Given the description of an element on the screen output the (x, y) to click on. 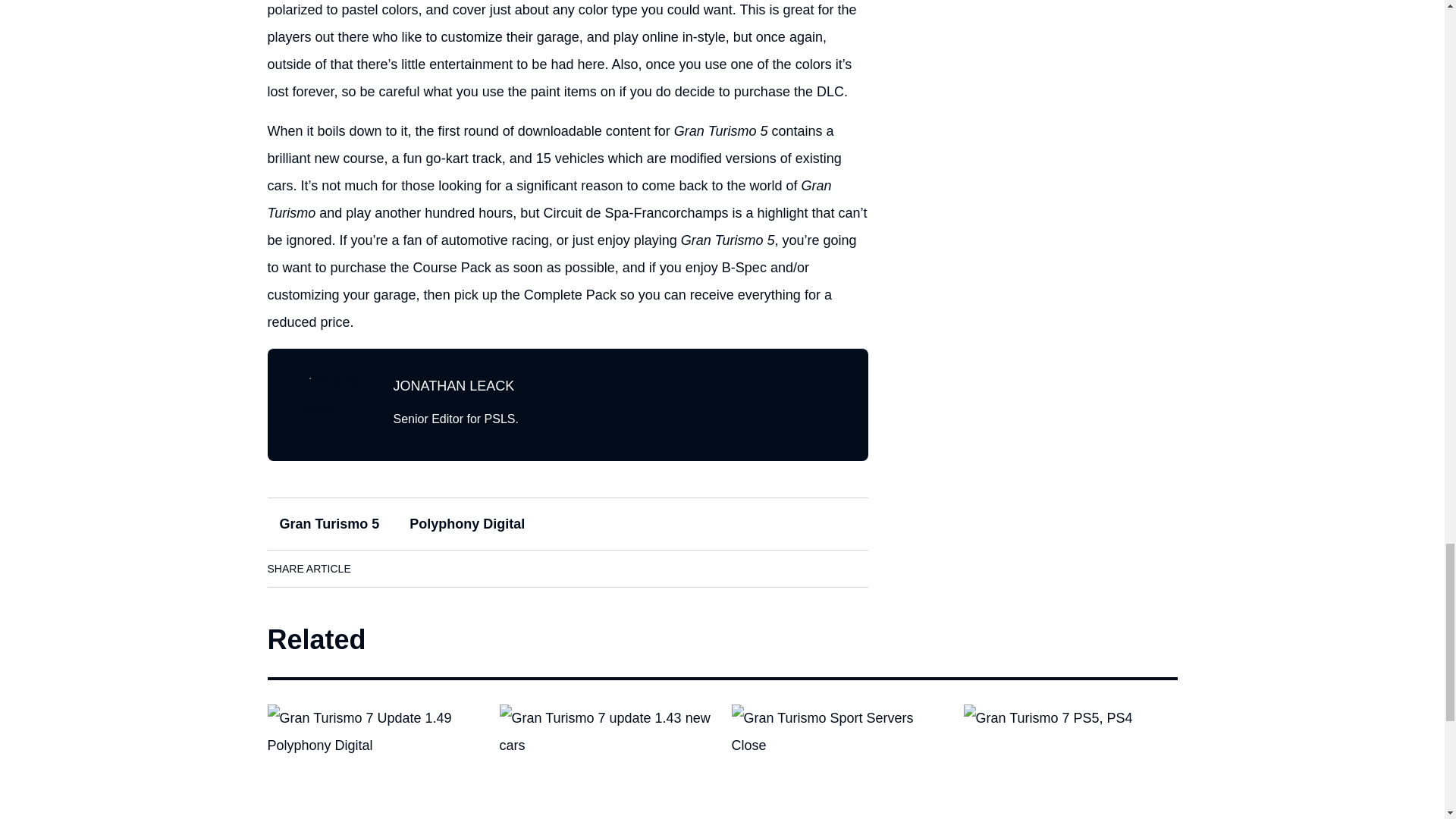
Gran Turismo Sport Quietly Removed From PS Store (837, 761)
Gran Turismo 5 (328, 523)
JONATHAN LEACK (453, 385)
Polyphony Digital (467, 523)
Facebook (377, 568)
LinkedIn (420, 568)
Gran Turismo 7 Update 1.49 Glitch Creates Flying Cars (373, 761)
Gran Turismo 7 Update 1.43 Adds New Cars, Events, and More (606, 761)
Pinterest (505, 568)
Twitter (463, 568)
